Given the description of an element on the screen output the (x, y) to click on. 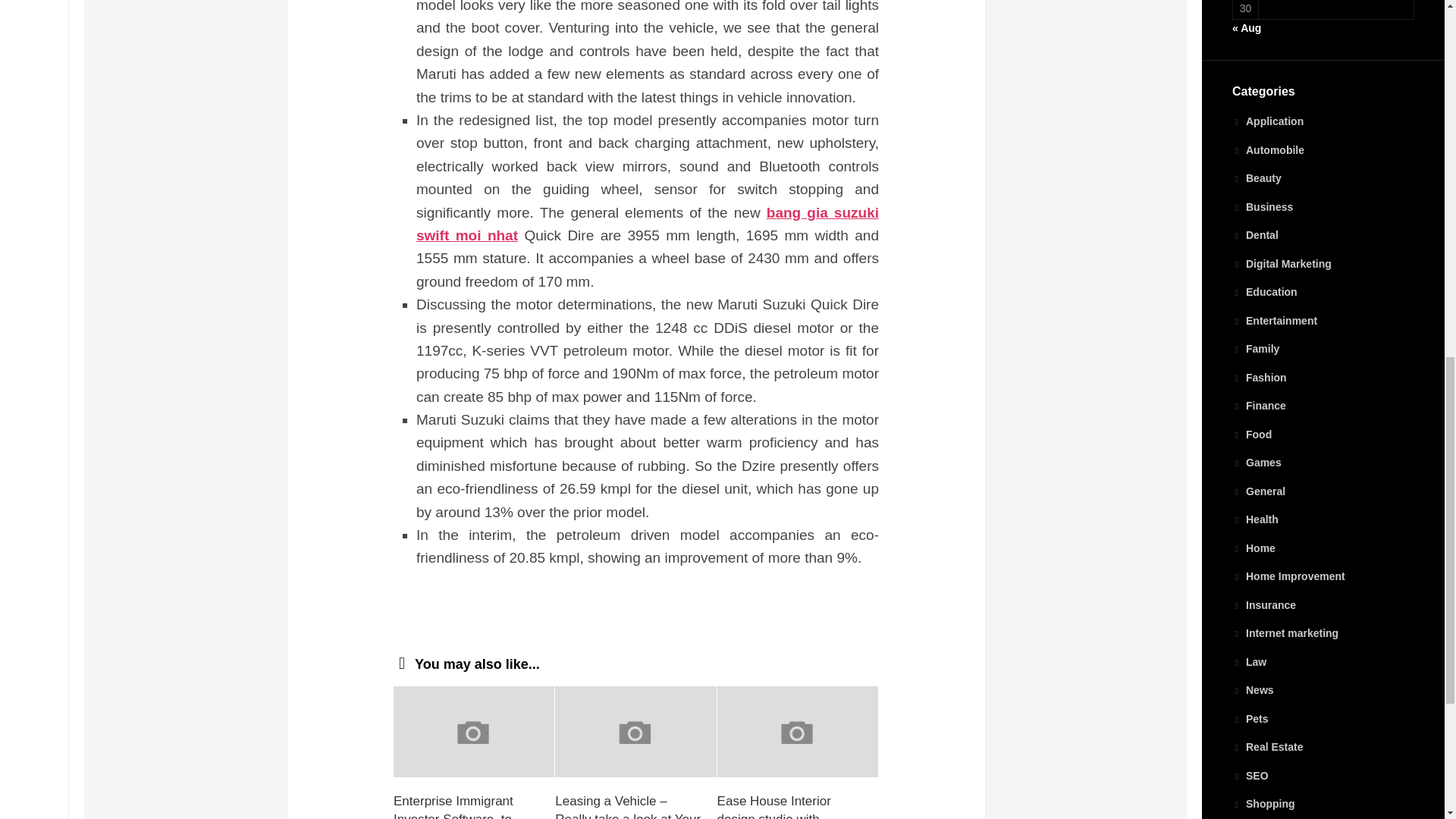
SEO (1249, 775)
Entertainment (1274, 319)
Application (1267, 121)
Family (1255, 348)
Finance (1258, 405)
General (1258, 491)
Shopping (1263, 803)
Beauty (1256, 177)
Automobile (1267, 150)
Pets (1249, 718)
